Given the description of an element on the screen output the (x, y) to click on. 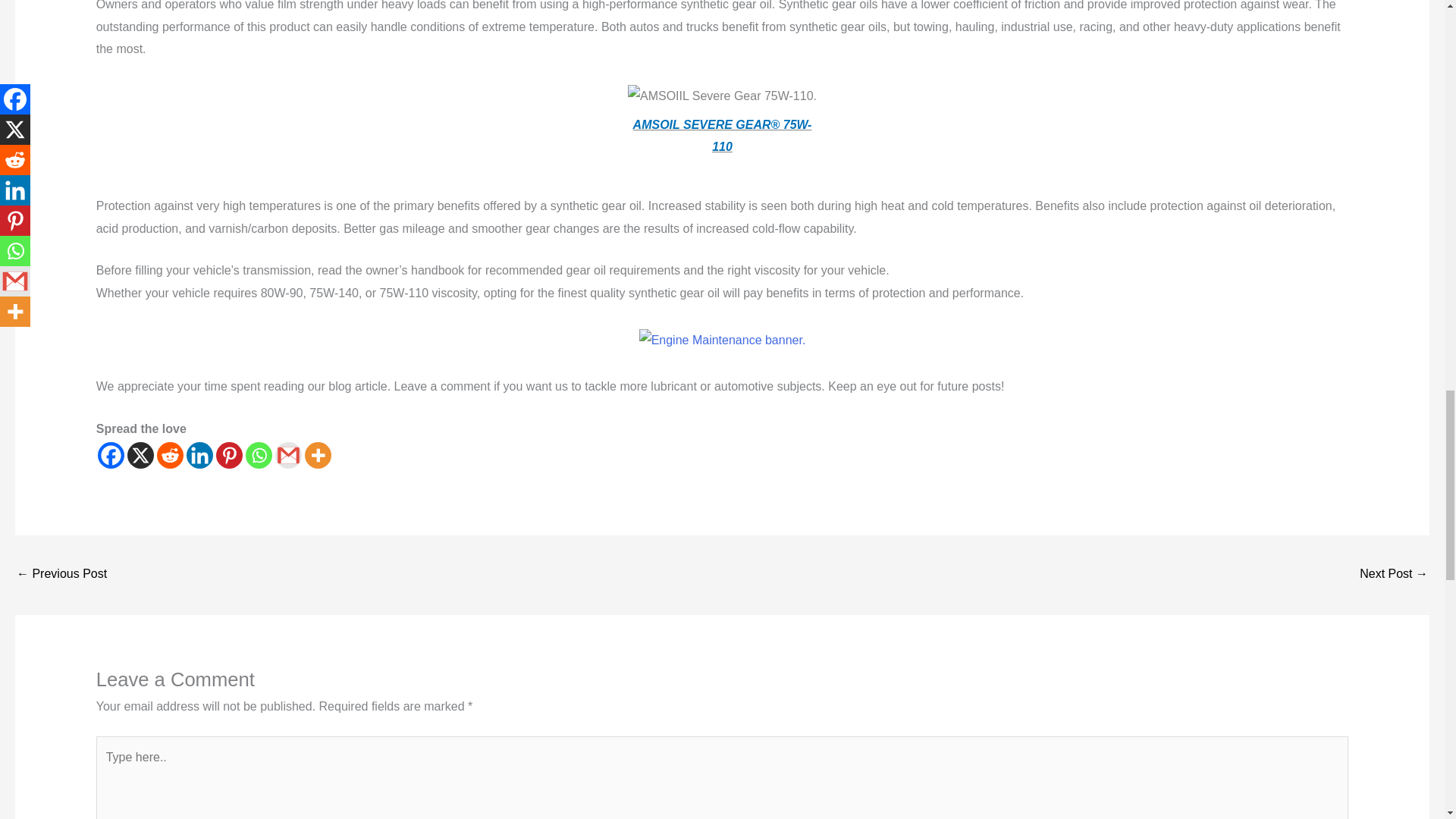
X (141, 455)
Google Gmail (288, 455)
Reddit (170, 455)
More (317, 455)
Whatsapp (259, 455)
Linkedin (199, 455)
Pinterest (229, 455)
Facebook (110, 455)
